Given the description of an element on the screen output the (x, y) to click on. 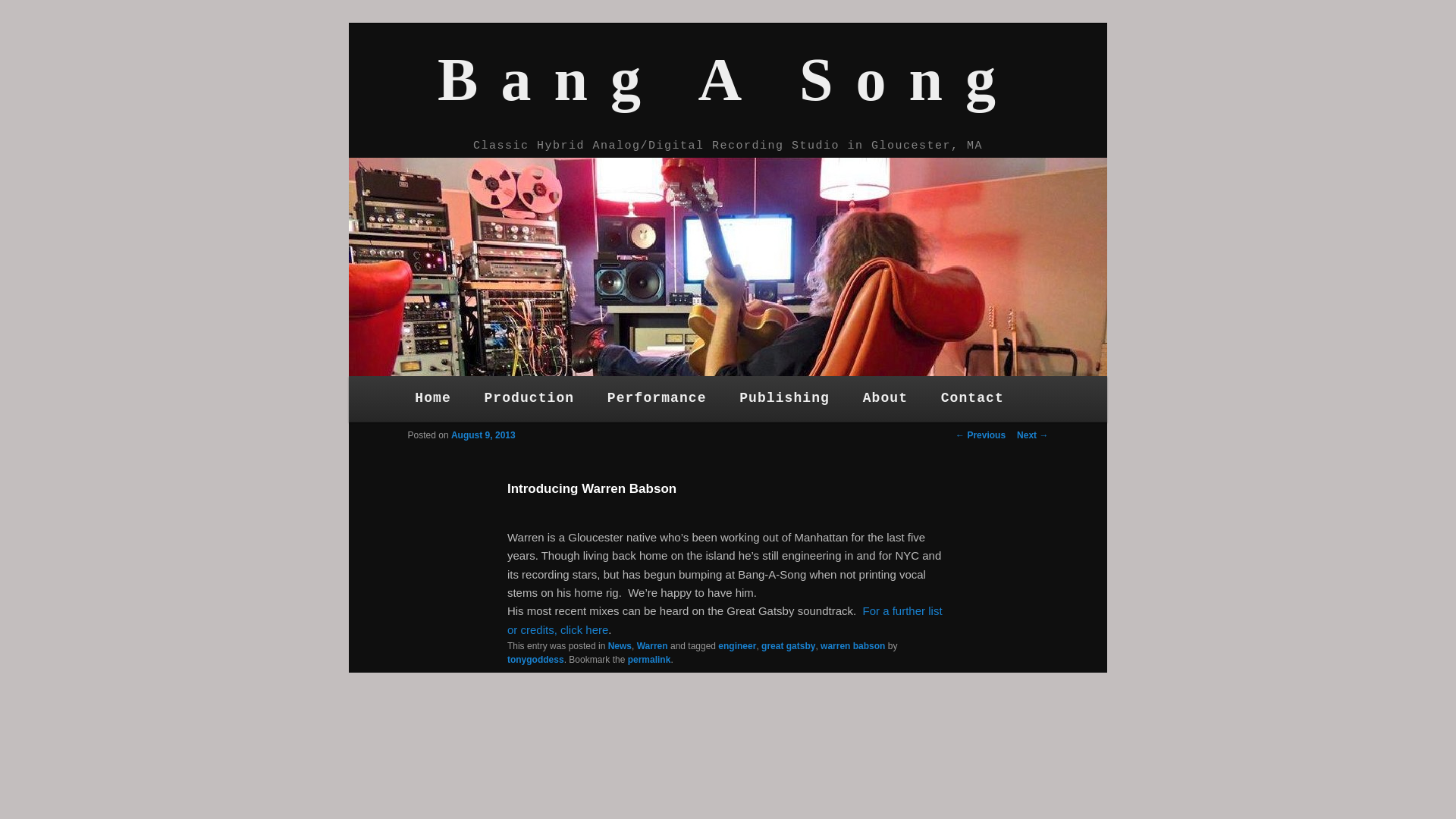
Production (529, 398)
Performance (656, 398)
Contact (972, 398)
Home (432, 398)
Bang A Song (727, 79)
About (884, 398)
Publishing (783, 398)
August 9, 2013 (483, 434)
Warren Babson (724, 619)
